Given the description of an element on the screen output the (x, y) to click on. 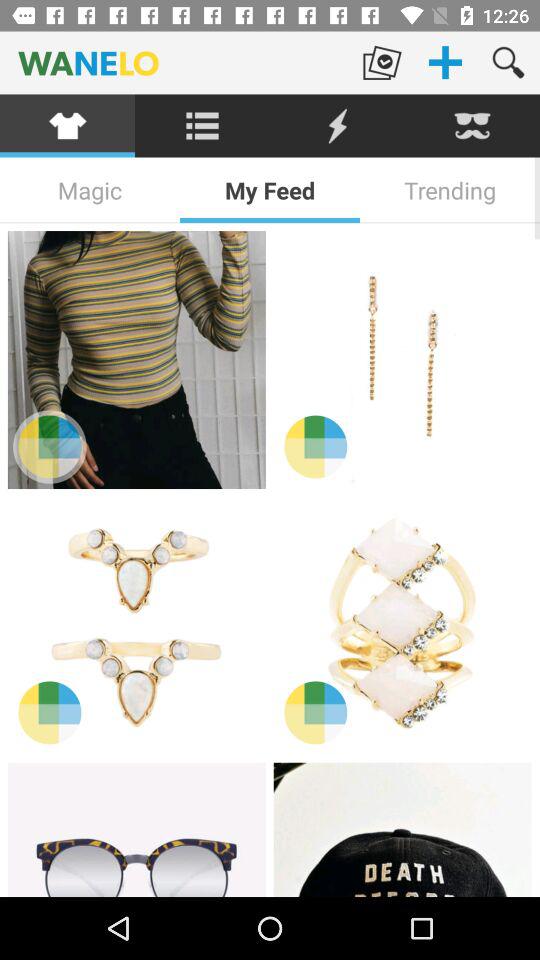
swipe until the wanelo icon (175, 62)
